Given the description of an element on the screen output the (x, y) to click on. 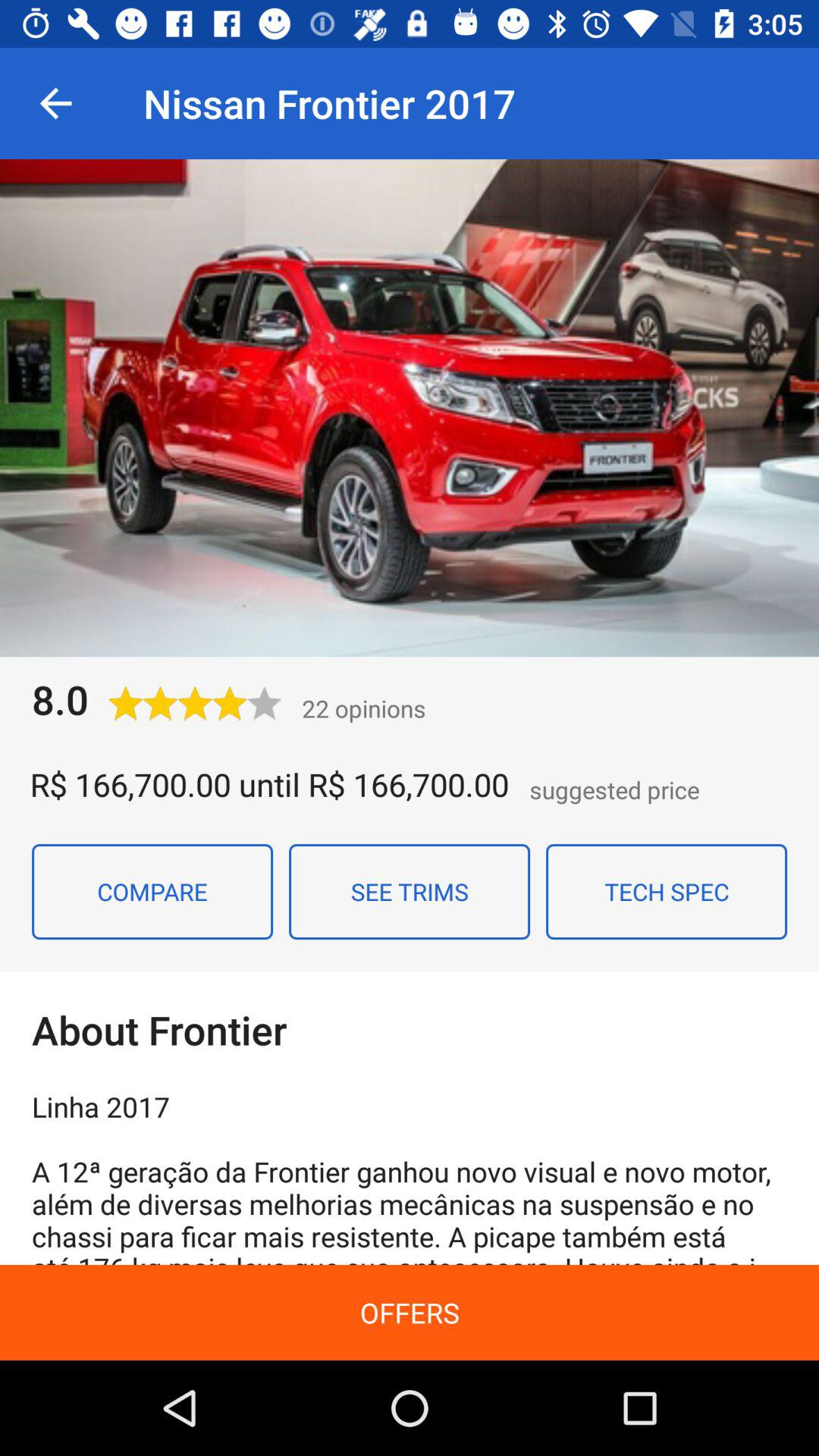
press the compare (152, 891)
